Given the description of an element on the screen output the (x, y) to click on. 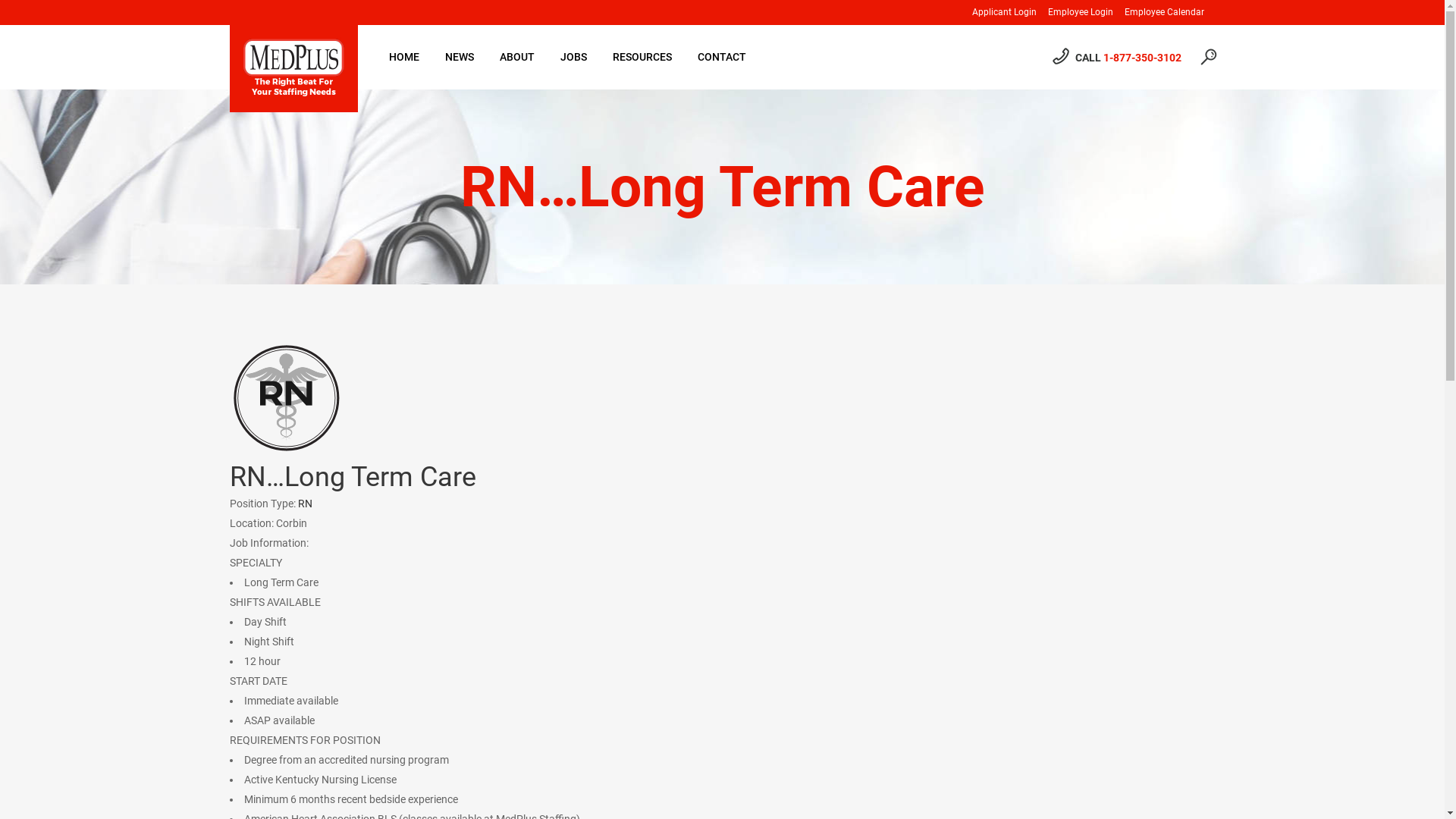
RESOURCES Element type: text (641, 57)
HOME Element type: text (404, 57)
RN Element type: hover (285, 398)
Employee Calendar Element type: text (1158, 12)
RN Element type: text (304, 503)
ABOUT Element type: text (516, 57)
JOBS Element type: text (573, 57)
Applicant Login Element type: text (997, 12)
NEWS Element type: text (459, 57)
Employee Login Element type: text (1073, 12)
1-877-350-3102 Element type: text (1141, 57)
CONTACT Element type: text (721, 57)
